Given the description of an element on the screen output the (x, y) to click on. 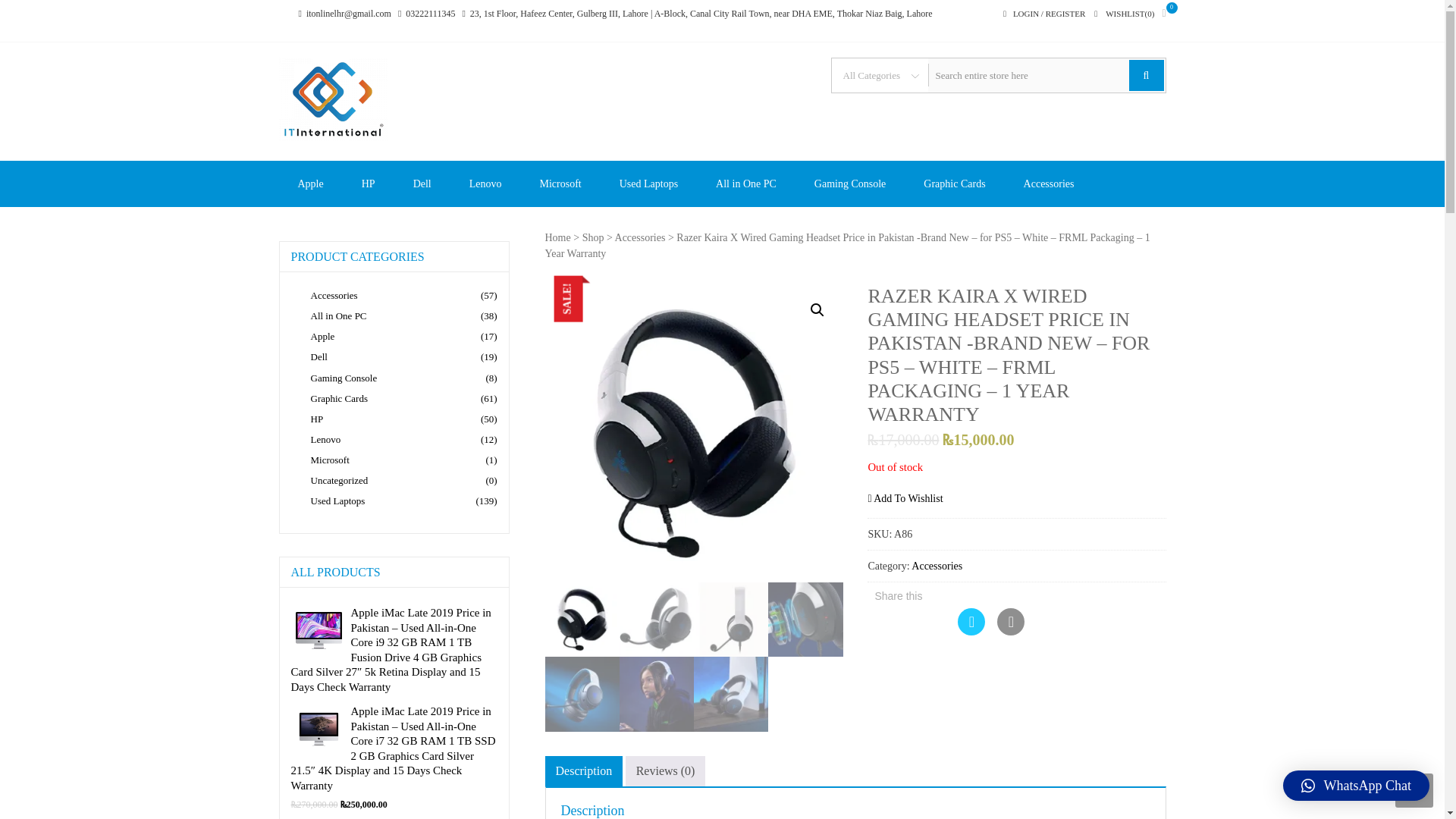
Lenovo (485, 183)
Home (557, 237)
Used Laptops (648, 183)
Accessories (639, 237)
Add To Wishlist (904, 498)
Wishlist (1129, 13)
Razer Kaira X Wired Gaming Headset Price in Pakistan (693, 433)
Accessories (1048, 183)
HP (368, 183)
Description (582, 770)
Gaming Console (849, 183)
Graphic Cards (954, 183)
Microsoft (559, 183)
All in One PC (745, 183)
Apple (310, 183)
